Given the description of an element on the screen output the (x, y) to click on. 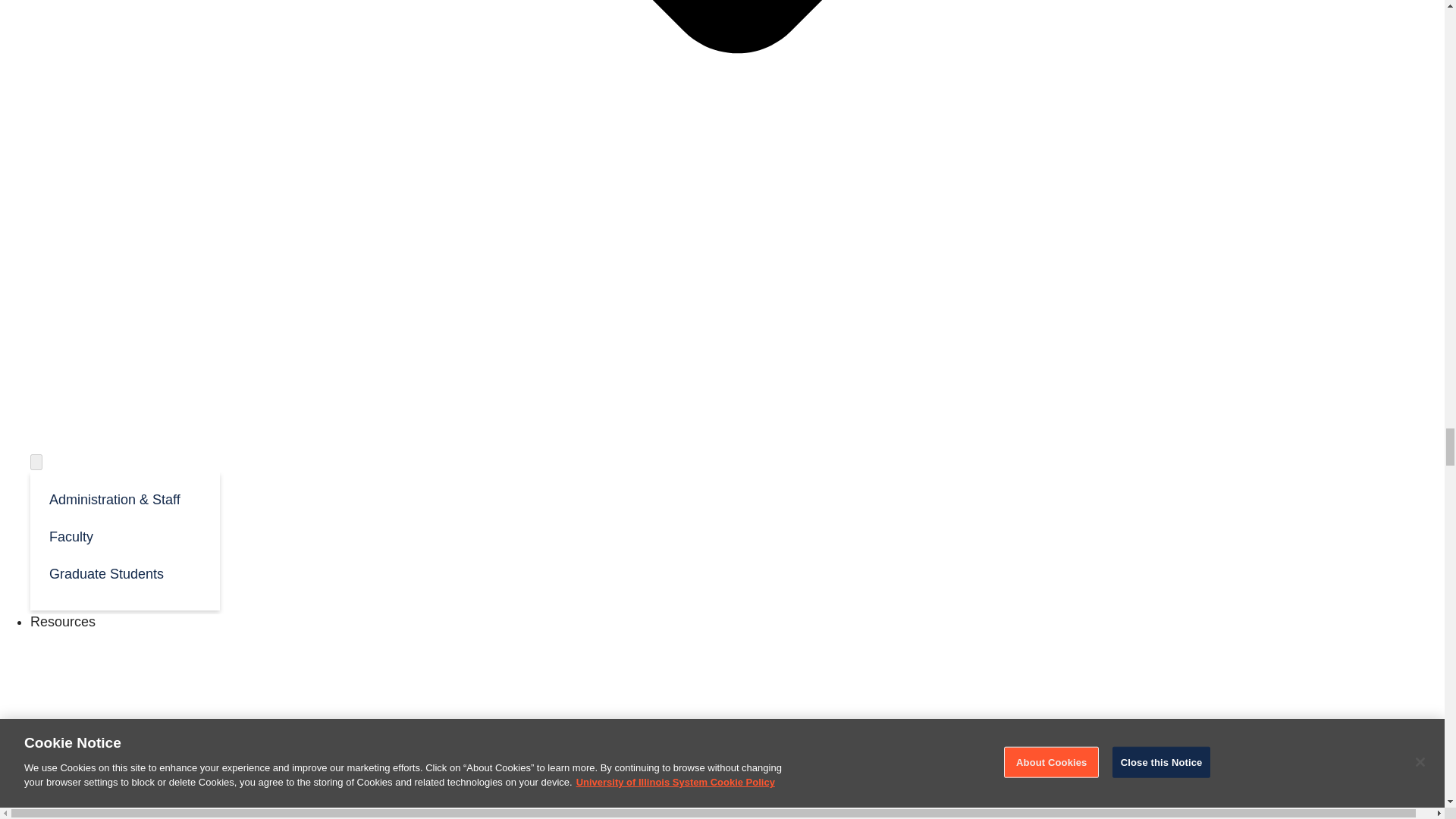
Graduate Students (125, 572)
Resources (63, 621)
Faculty (125, 535)
